Given the description of an element on the screen output the (x, y) to click on. 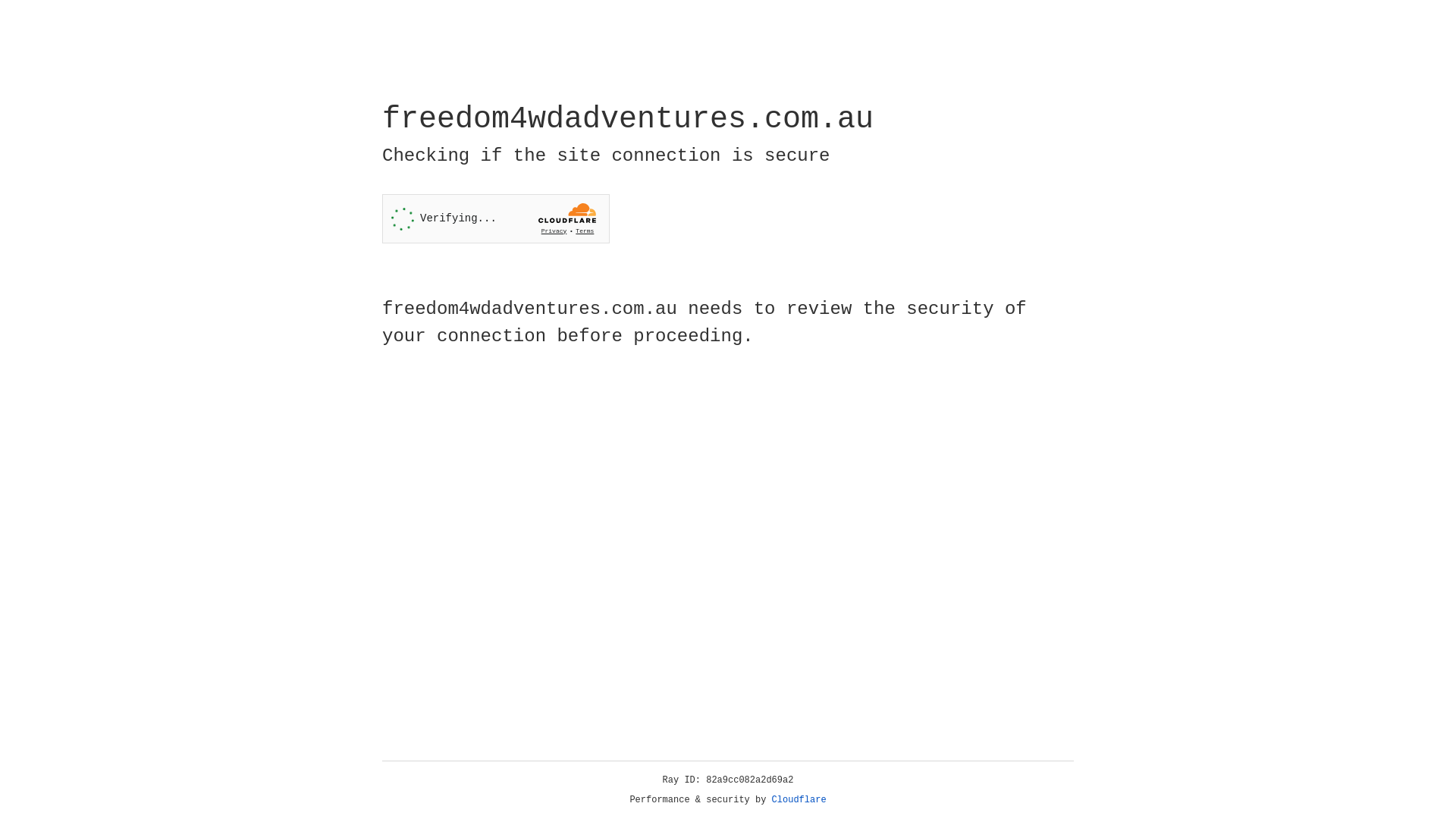
Cloudflare Element type: text (798, 799)
Widget containing a Cloudflare security challenge Element type: hover (495, 218)
